Given the description of an element on the screen output the (x, y) to click on. 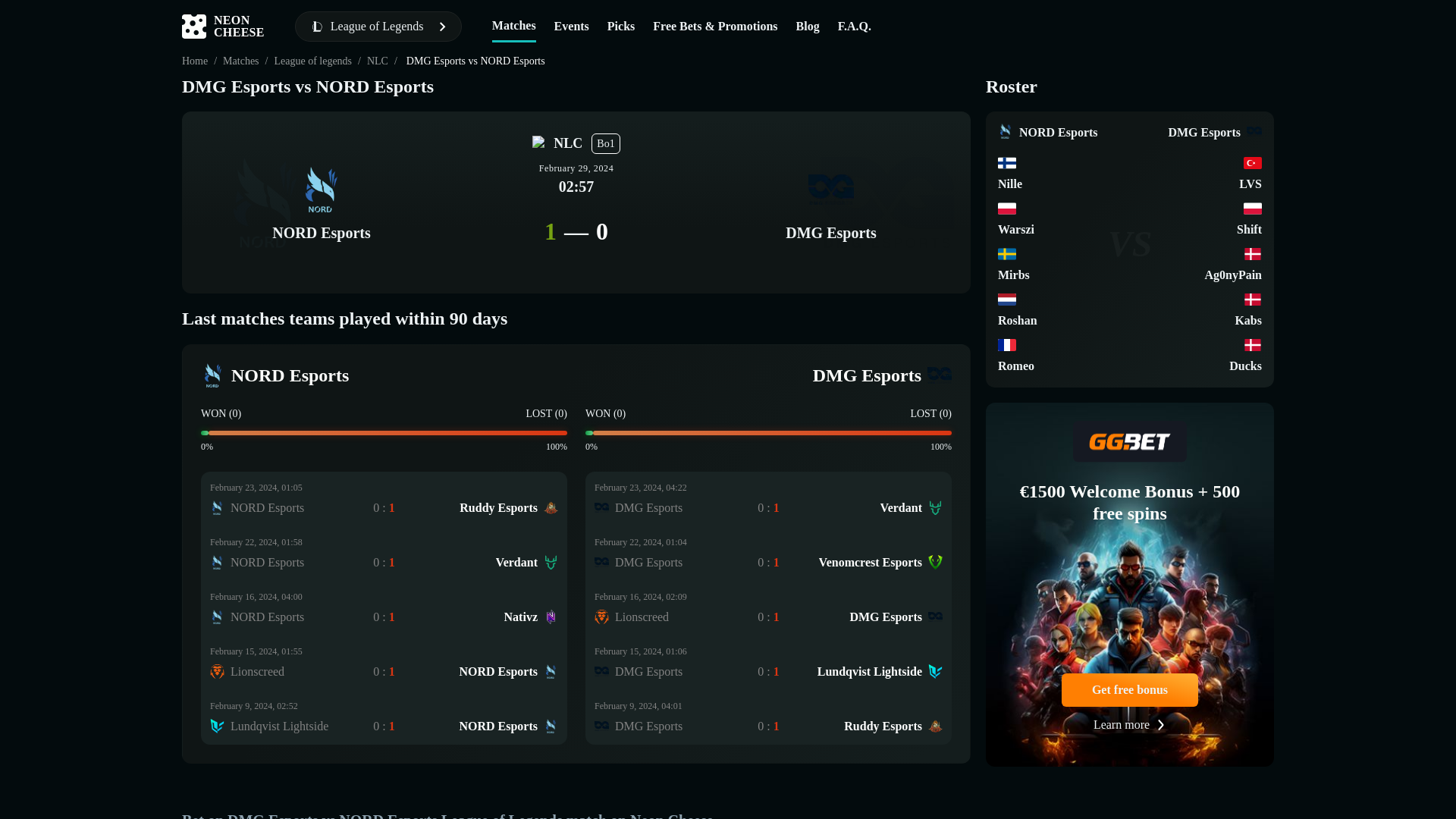
Matches (768, 607)
Events (383, 553)
League of legends (513, 24)
F.A.Q. (571, 25)
